Given the description of an element on the screen output the (x, y) to click on. 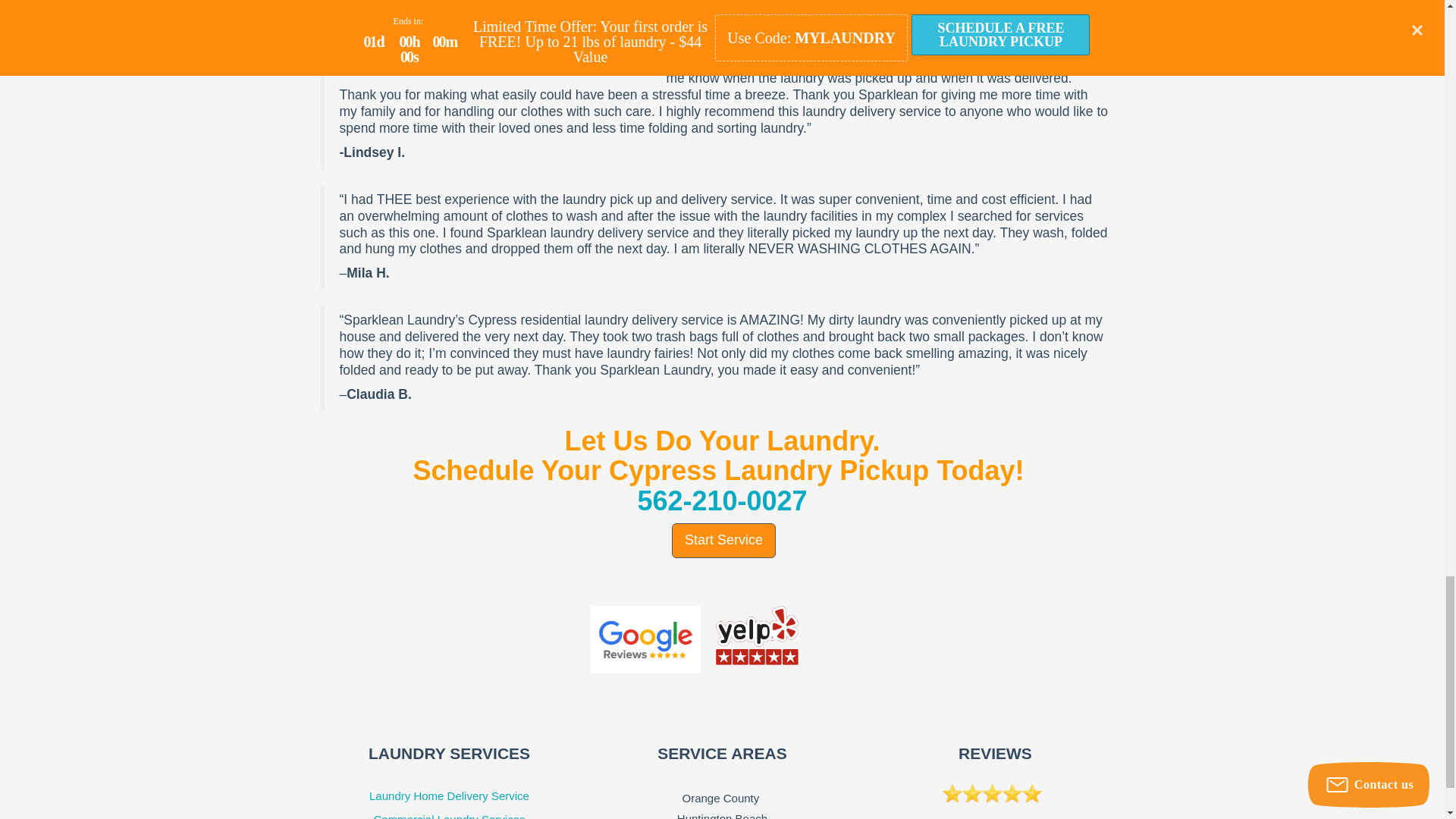
562-210-0027 (721, 500)
Laundry Home Delivery Service (449, 795)
Start Service (723, 540)
